Given the description of an element on the screen output the (x, y) to click on. 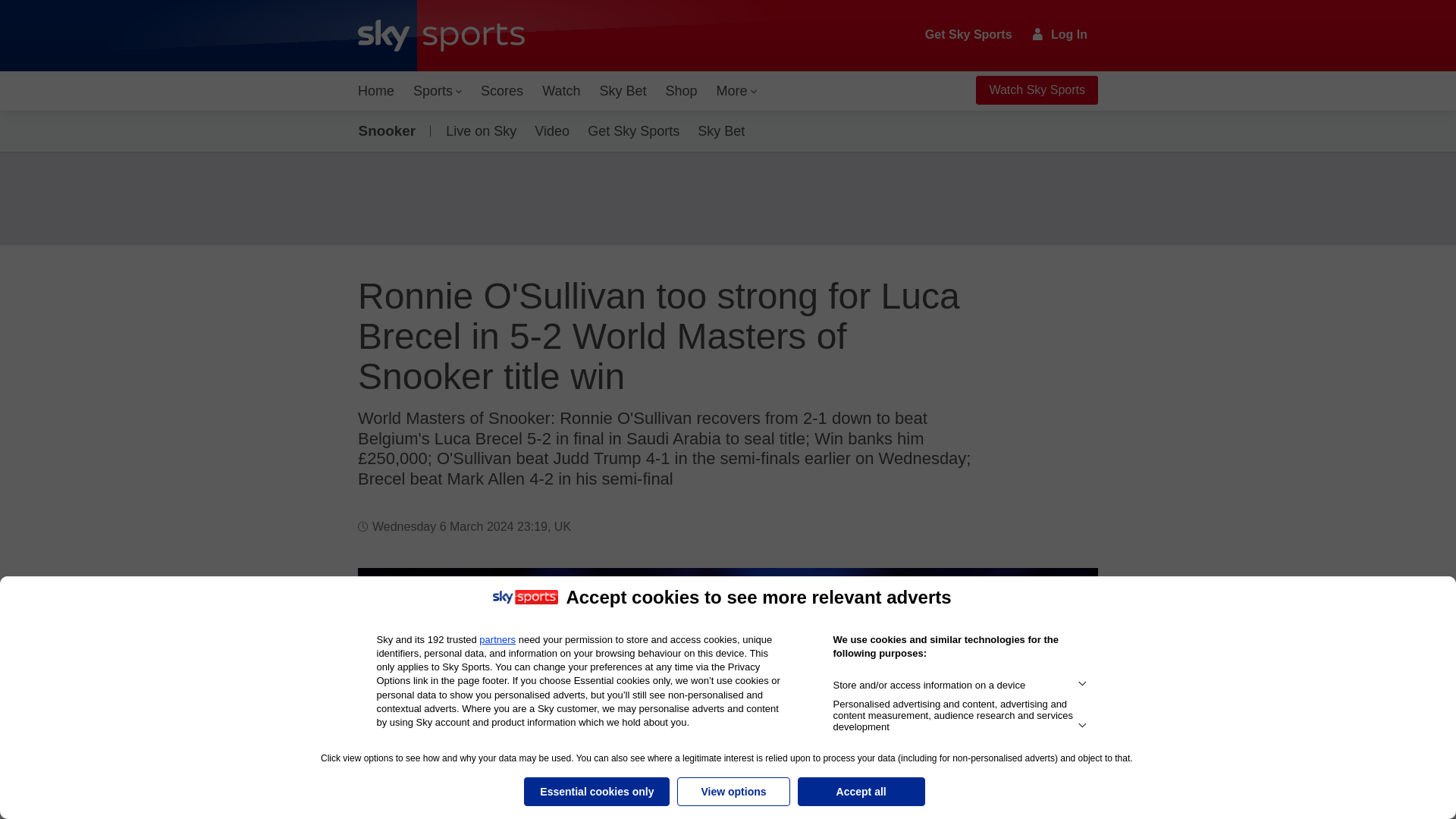
More (736, 91)
Watch (561, 91)
Snooker (389, 130)
Sports (437, 91)
Home (375, 91)
Live on Sky (477, 130)
Log In (1060, 33)
Scores (502, 91)
Get Sky Sports (968, 34)
Sky Bet (622, 91)
Shop (681, 91)
Watch Sky Sports (1036, 90)
